Given the description of an element on the screen output the (x, y) to click on. 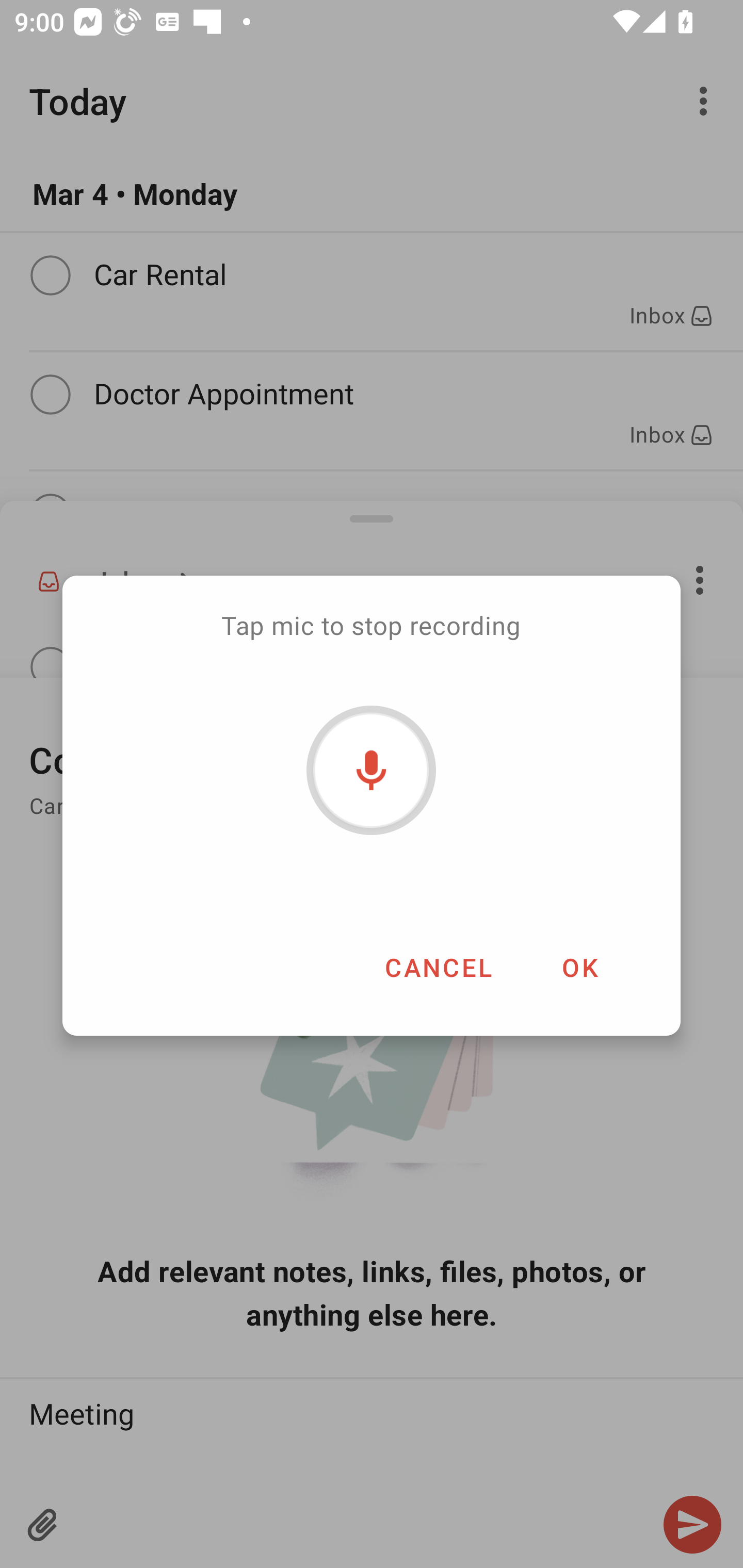
CANCEL (438, 966)
OK (579, 966)
